Given the description of an element on the screen output the (x, y) to click on. 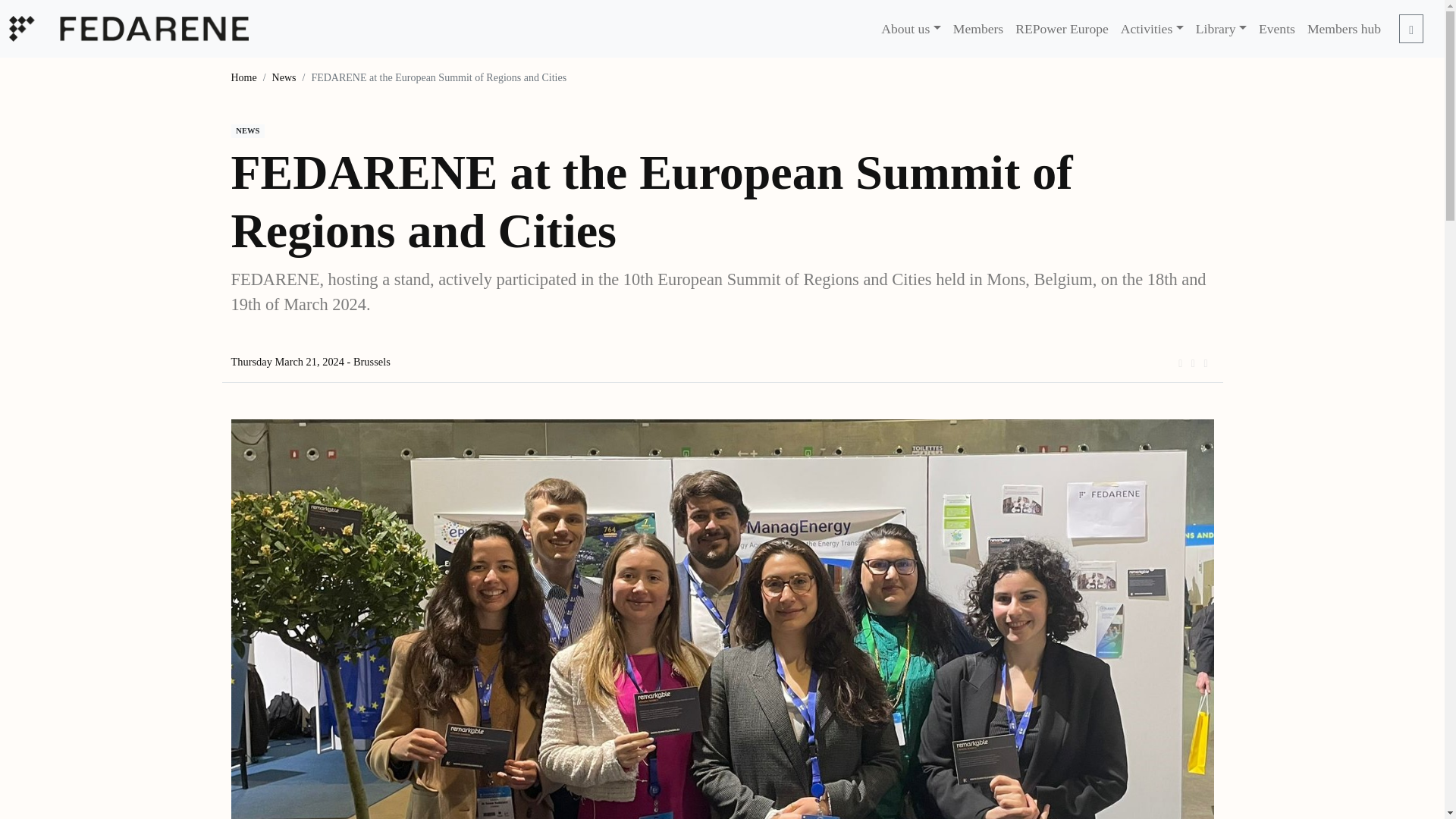
Members (978, 29)
About us (911, 29)
Library (1220, 29)
About us (911, 29)
Members (978, 29)
REPower Europe (1062, 29)
News (284, 77)
Home (243, 77)
REPower Europe (1062, 29)
Activities (1152, 29)
